Given the description of an element on the screen output the (x, y) to click on. 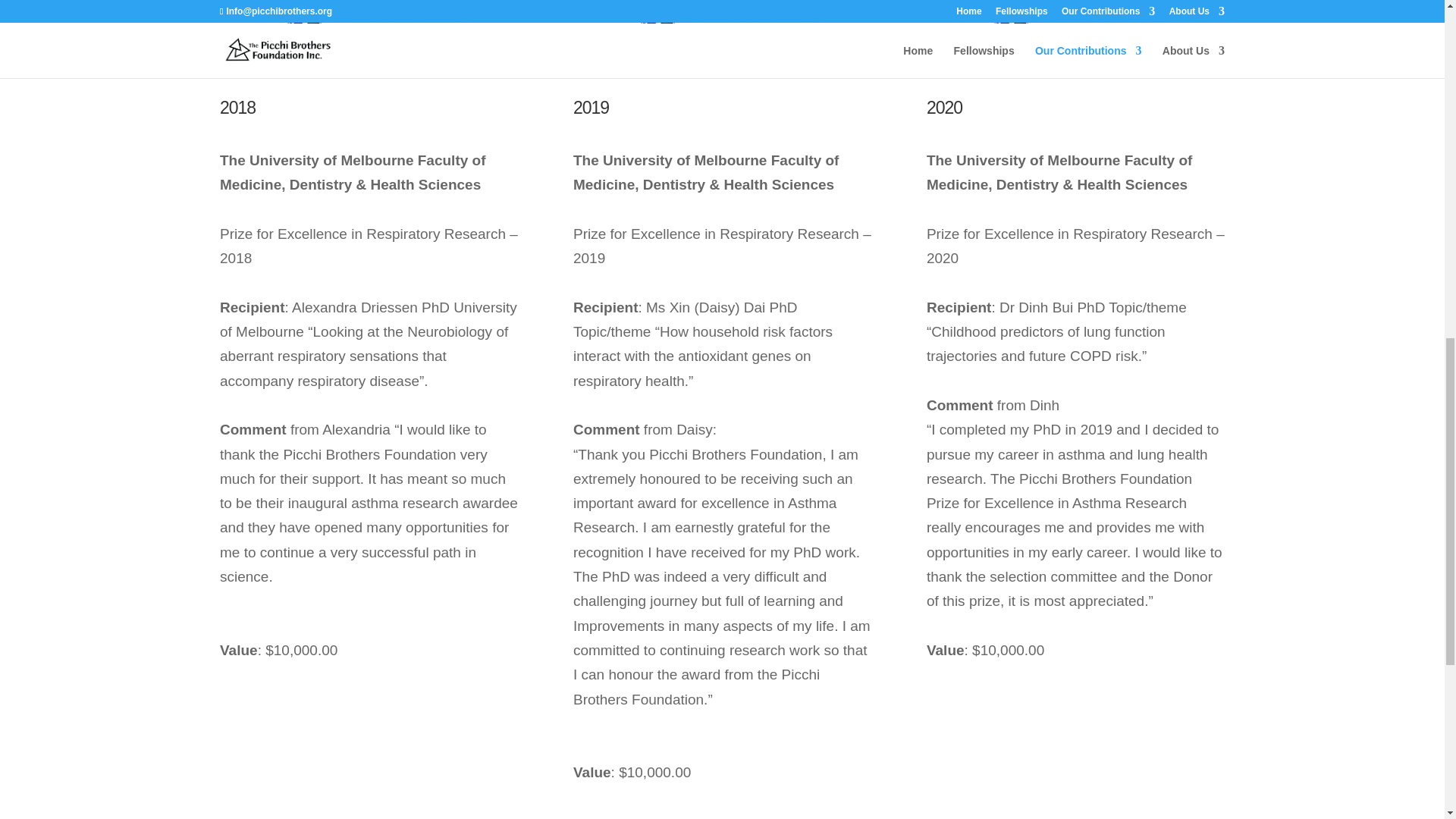
Institutions-MelbUni (368, 35)
Institutions-MelbUni (721, 35)
Institutions-MelbUni (1075, 35)
